Given the description of an element on the screen output the (x, y) to click on. 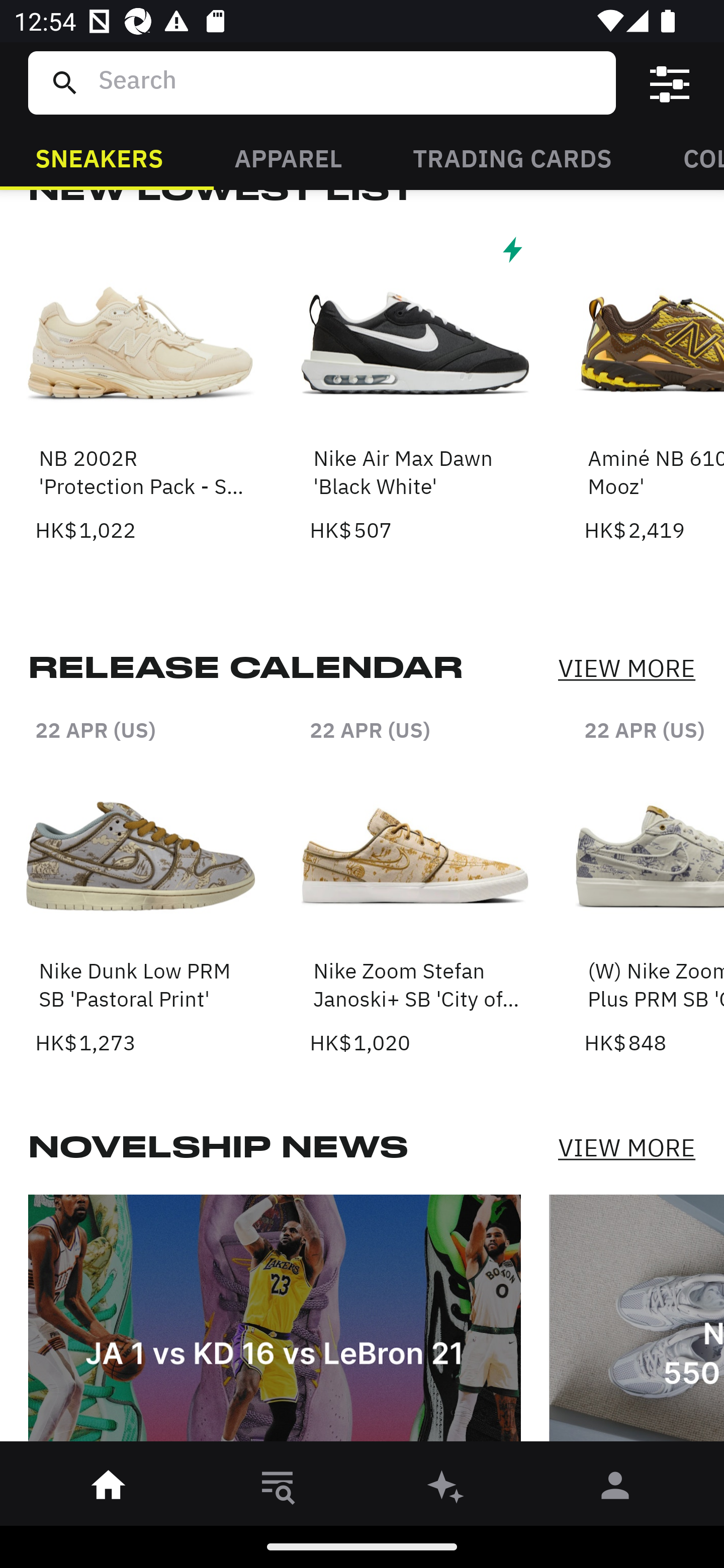
Search (349, 82)
 (669, 82)
SNEAKERS (99, 156)
APPAREL (287, 156)
TRADING CARDS (512, 156)
NB 2002R 'Protection Pack - Sandstone' HK$ 1,022 (140, 387)
 Nike Air Max Dawn 'Black White' HK$ 507 (414, 387)
Aminé NB 610 'The Mooz' HK$ 2,419 (654, 387)
VIEW MORE (626, 667)
VIEW MORE (626, 1147)
󰋜 (108, 1488)
󱎸 (277, 1488)
󰫢 (446, 1488)
󰀄 (615, 1488)
